Given the description of an element on the screen output the (x, y) to click on. 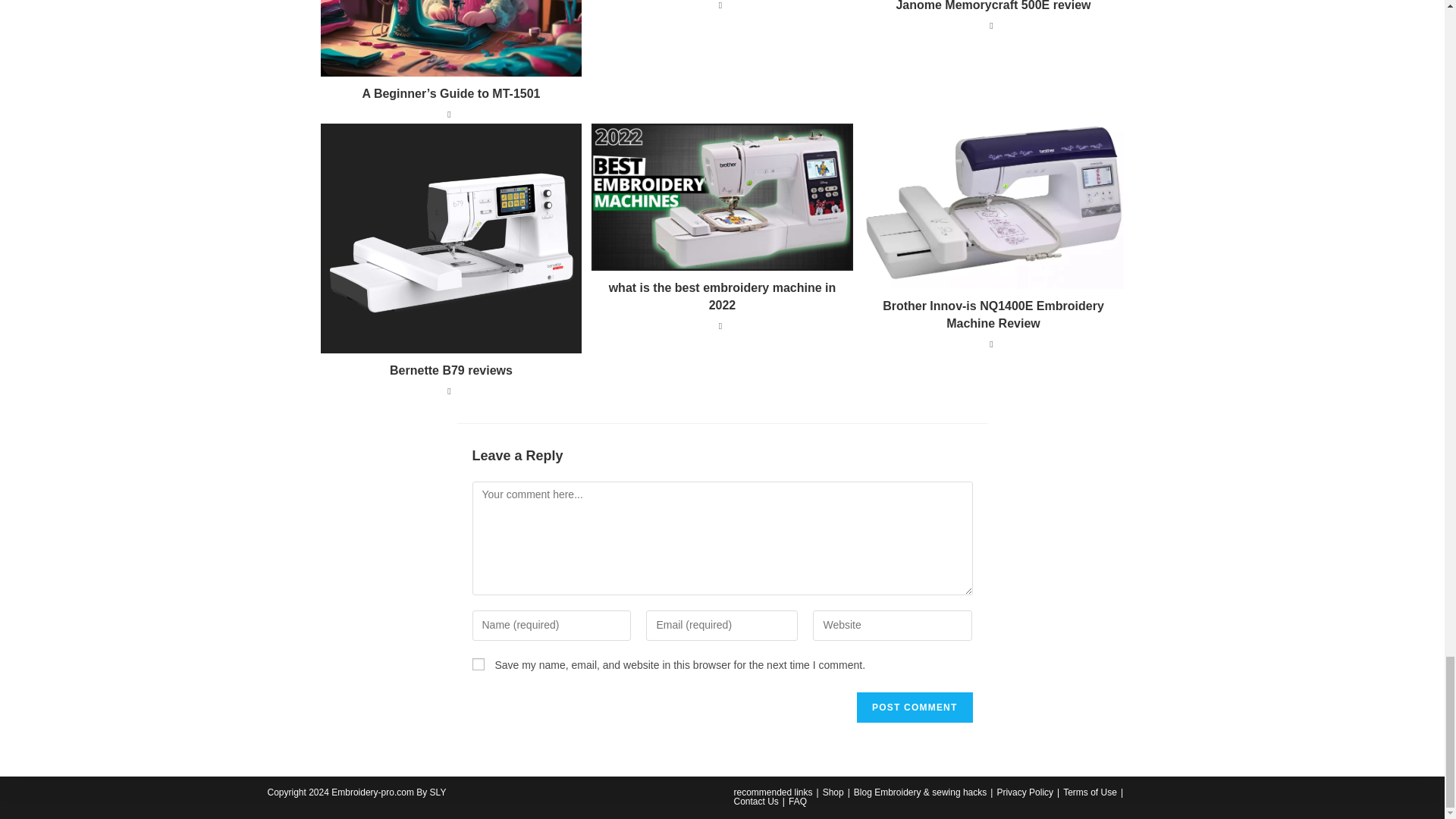
A Beginner's Guide to MT-1501 2 (450, 38)
Bernette B79 reviews 5 (450, 237)
yes (477, 664)
Post Comment (914, 707)
what is the best embroidery machine in 2022 6 (722, 197)
